Given the description of an element on the screen output the (x, y) to click on. 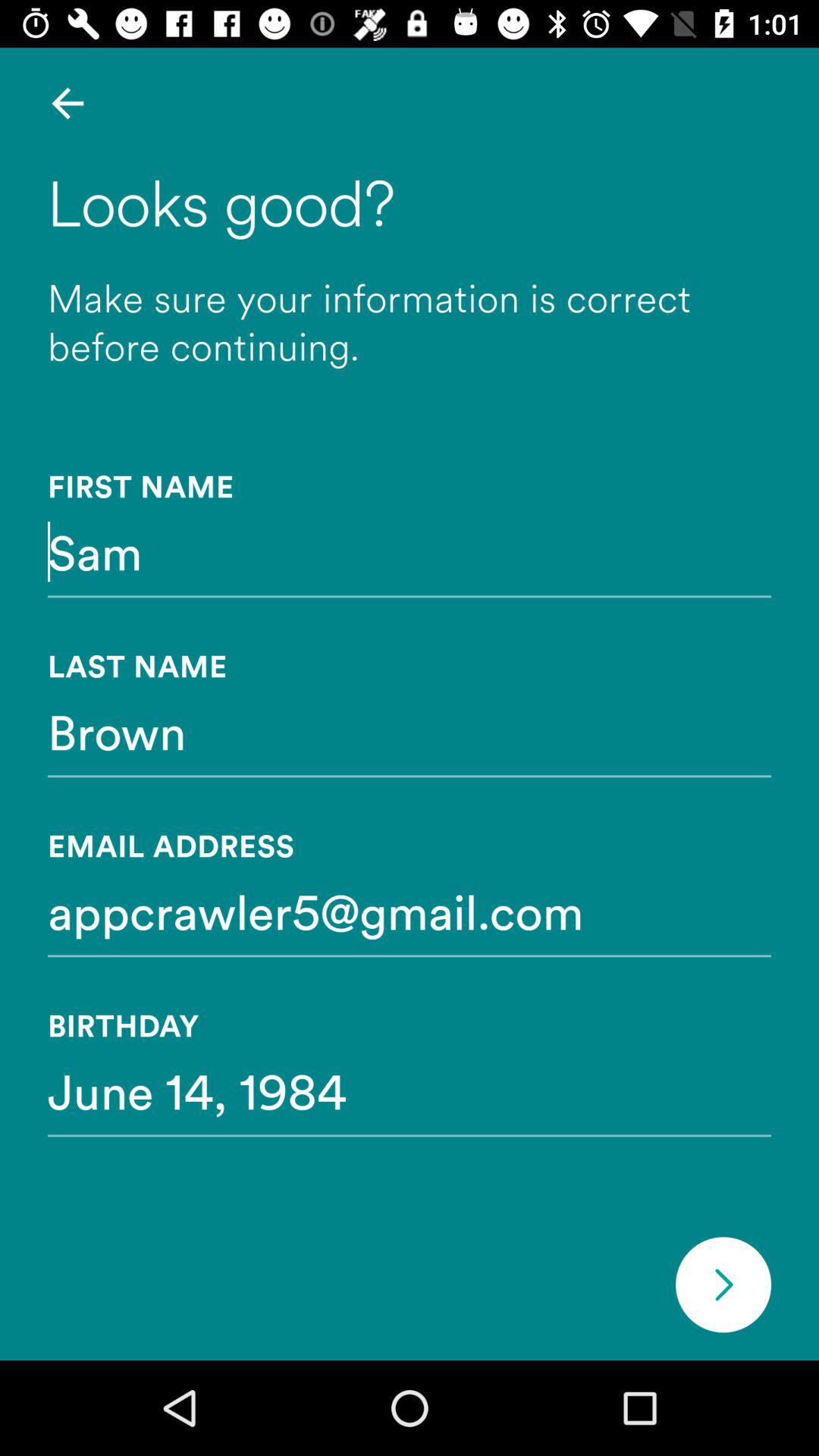
launch icon above email address (409, 731)
